Given the description of an element on the screen output the (x, y) to click on. 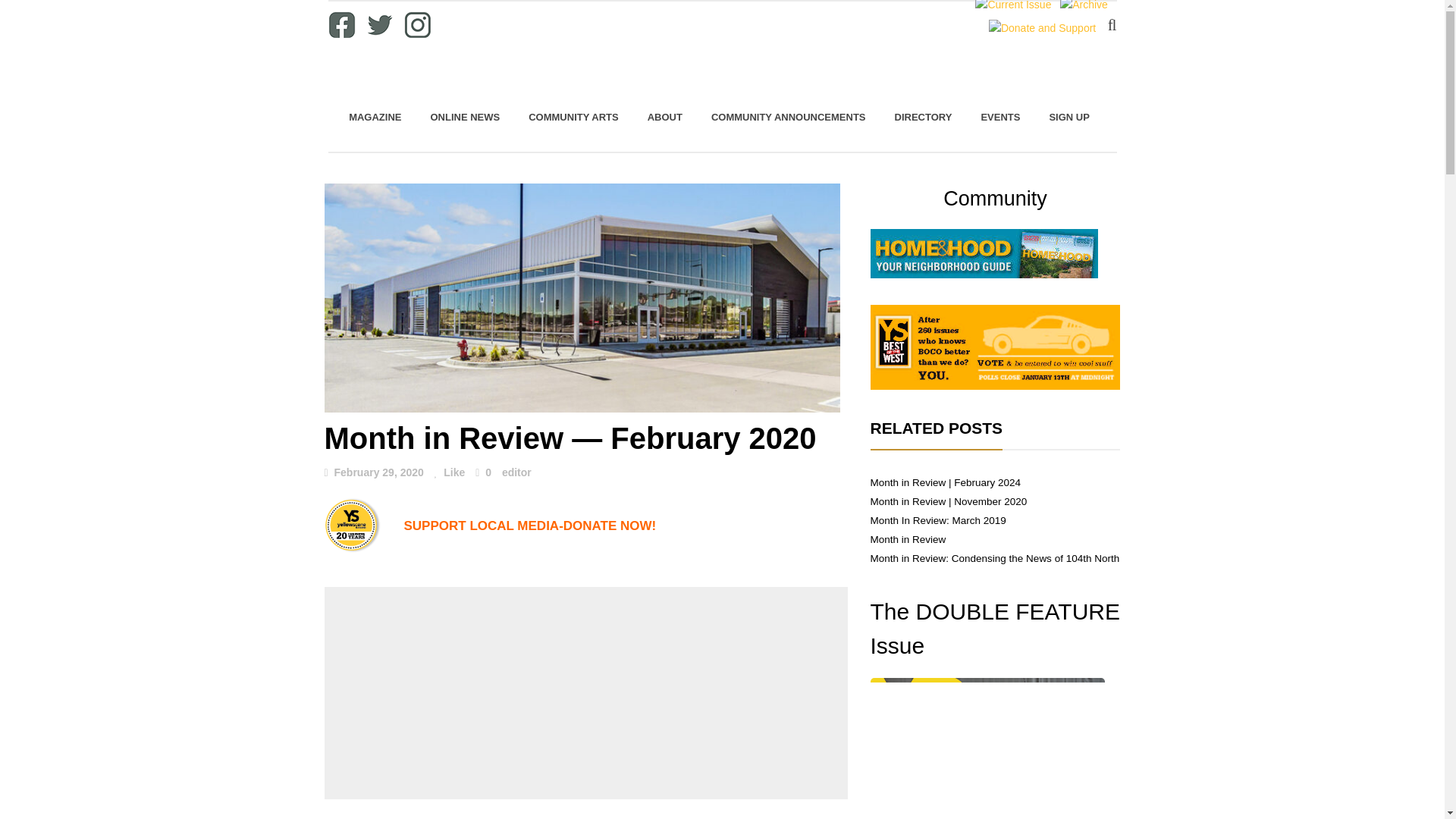
ONLINE NEWS (465, 117)
ABOUT (665, 117)
COMMUNITY ANNOUNCEMENTS (788, 117)
Posts by editor (516, 472)
MAGAZINE (374, 117)
Like (449, 473)
COMMUNITY ARTS (572, 117)
July 2024 (987, 748)
